Given the description of an element on the screen output the (x, y) to click on. 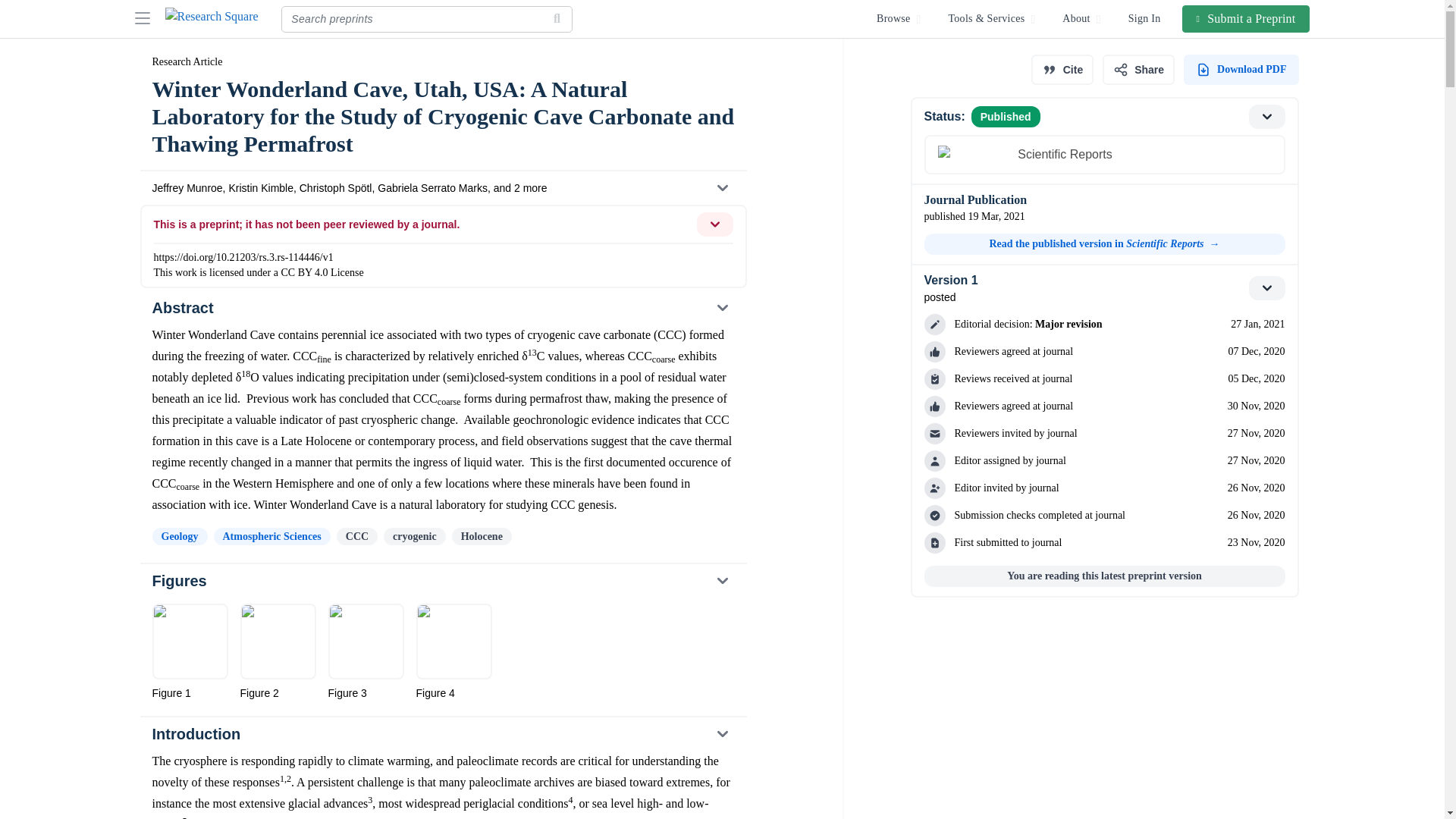
Sign In (1144, 18)
Geology (178, 536)
Submit a Preprint (1246, 18)
Figure 4 (453, 652)
Introduction (442, 734)
Figures (442, 580)
Figure 1 (189, 652)
Figure 3 (365, 652)
Abstract (442, 307)
Figure 2 (277, 652)
Atmospheric Sciences (272, 536)
